Given the description of an element on the screen output the (x, y) to click on. 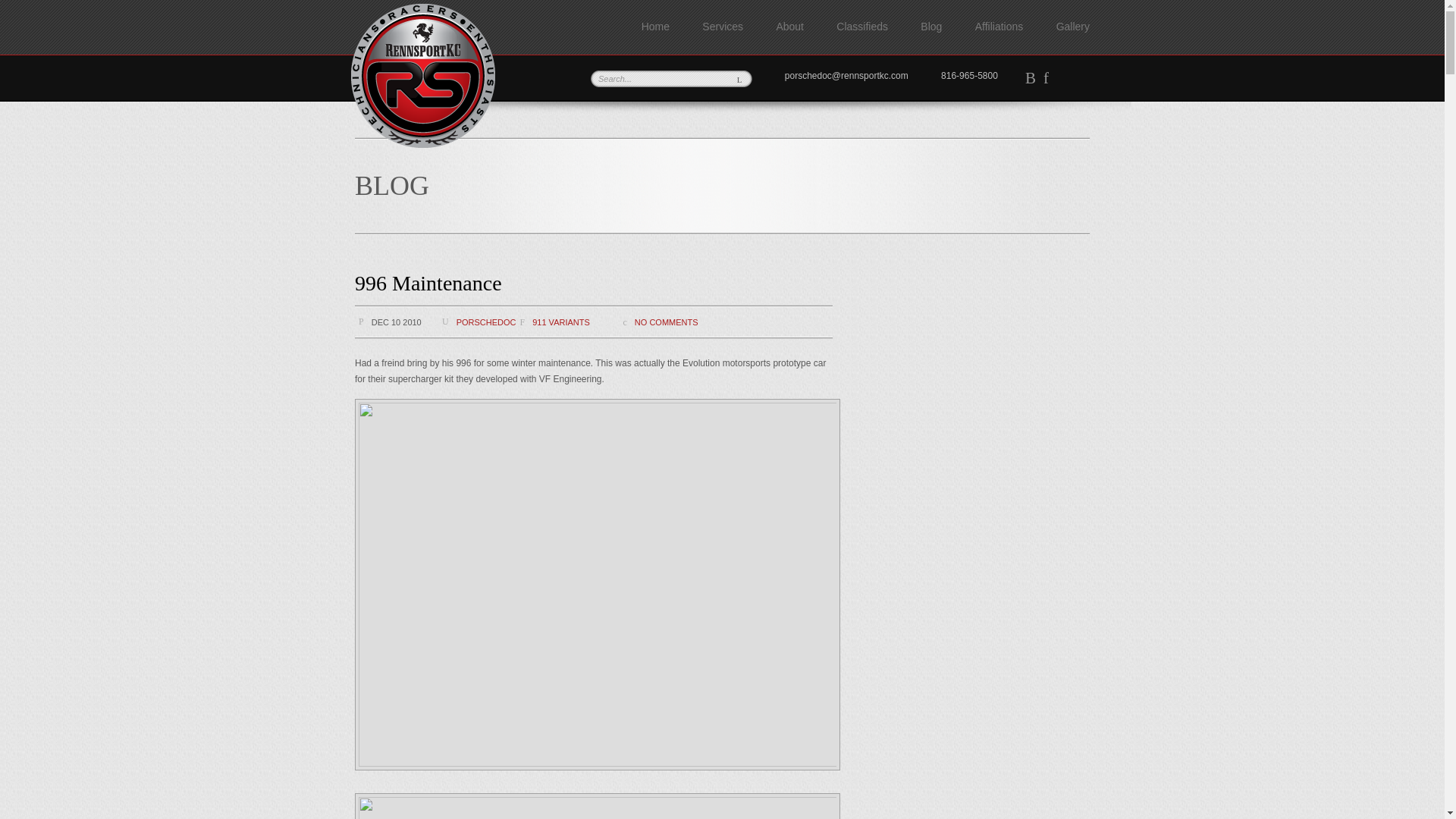
L (739, 78)
PORSCHEDOC (486, 321)
Blog (931, 26)
Affiliations (999, 26)
About (789, 26)
logo (422, 76)
Classifieds (861, 26)
NO COMMENTS (666, 321)
911 VARIANTS (560, 321)
Gallery (1073, 26)
Home (655, 26)
Services (721, 26)
L (739, 78)
